Given the description of an element on the screen output the (x, y) to click on. 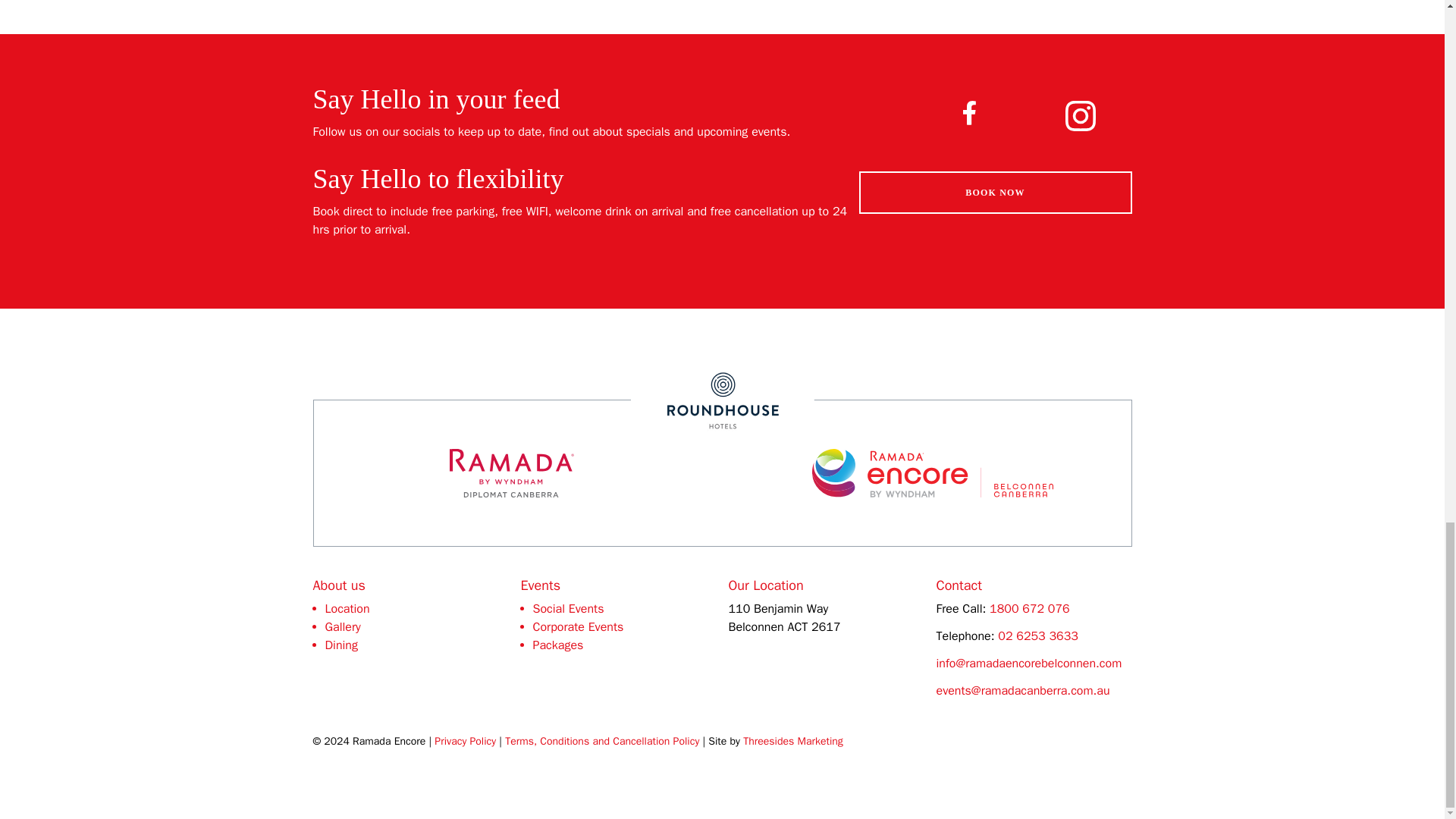
Dining (340, 645)
1800 672 076 (1030, 609)
Location (346, 609)
Social Events (568, 609)
Privacy Policy (464, 741)
Terms, Conditions and Cancellation Policy (601, 741)
Gallery (341, 627)
Corporate Events (577, 627)
02 6253 3633 (1037, 636)
BOOK NOW (995, 191)
Packages (557, 645)
Threesides Marketing (792, 741)
